Given the description of an element on the screen output the (x, y) to click on. 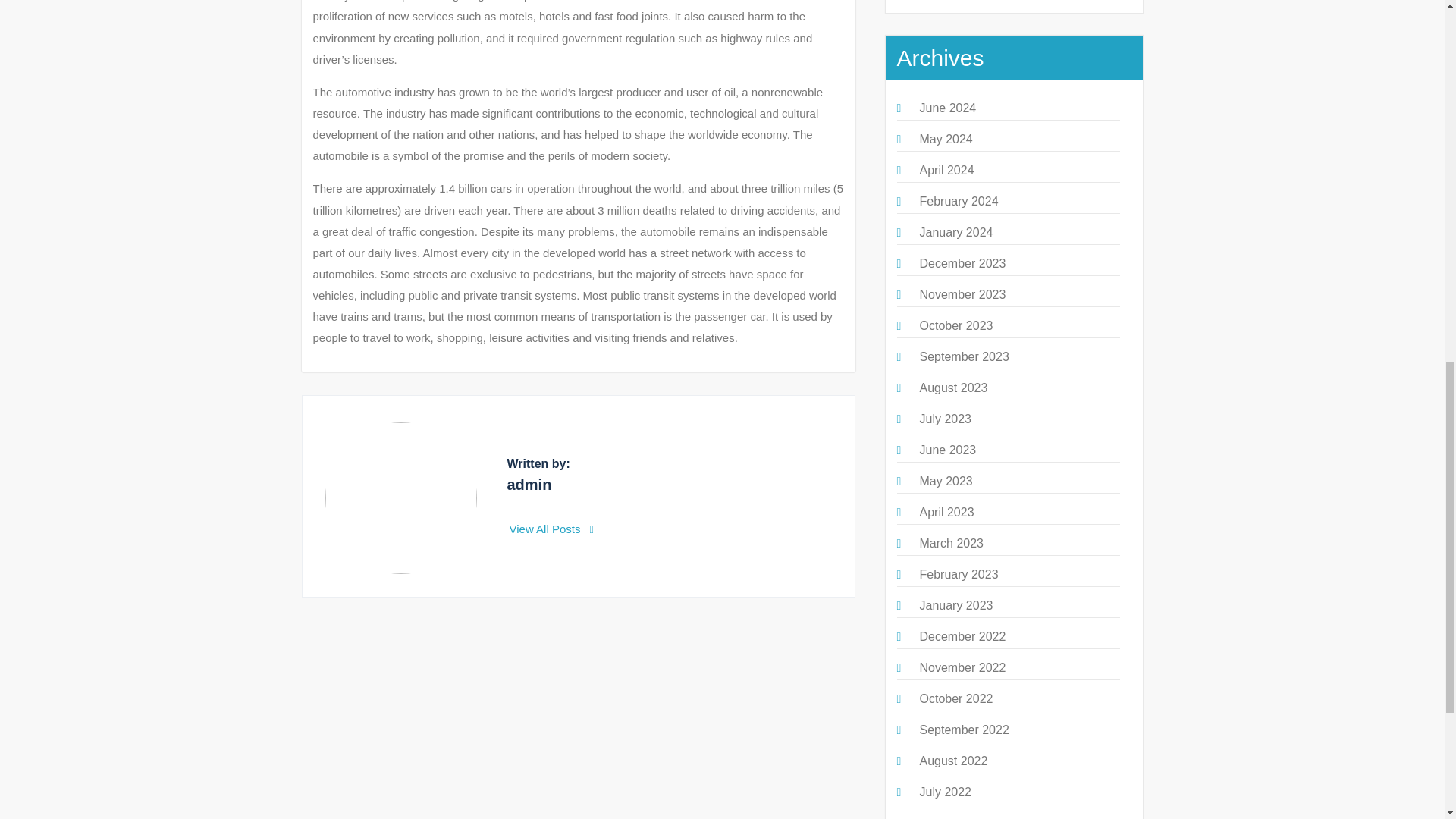
November 2023 (962, 294)
July 2023 (944, 418)
View All Posts (551, 528)
May 2023 (945, 481)
July 2022 (944, 791)
April 2024 (946, 169)
June 2024 (946, 107)
September 2023 (963, 356)
November 2022 (962, 667)
October 2022 (955, 698)
